Given the description of an element on the screen output the (x, y) to click on. 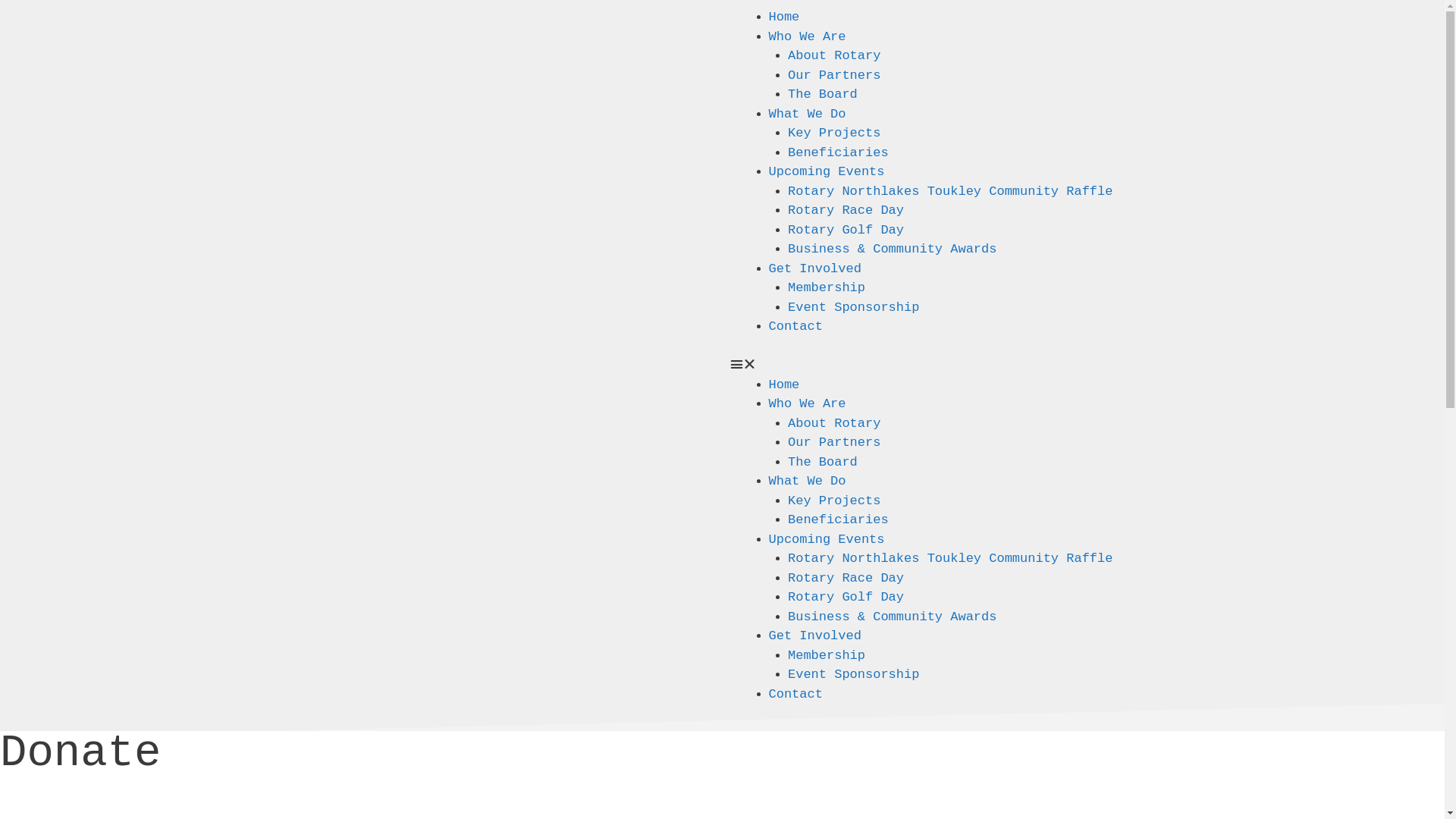
Home Element type: text (784, 384)
Beneficiaries Element type: text (837, 519)
Event Sponsorship Element type: text (853, 674)
Membership Element type: text (826, 654)
Get Involved Element type: text (814, 267)
Rotary Northlakes Toukley Community Raffle Element type: text (949, 190)
What We Do Element type: text (807, 113)
Event Sponsorship Element type: text (853, 307)
Membership Element type: text (826, 287)
About Rotary Element type: text (833, 55)
Who We Are Element type: text (807, 35)
Rotary Golf Day Element type: text (845, 596)
Who We Are Element type: text (807, 403)
Rotary Golf Day Element type: text (845, 229)
About Rotary Element type: text (833, 422)
The Board Element type: text (822, 462)
What We Do Element type: text (807, 480)
Business & Community Awards Element type: text (891, 248)
Key Projects Element type: text (833, 499)
Upcoming Events Element type: text (826, 539)
Our Partners Element type: text (833, 442)
Upcoming Events Element type: text (826, 171)
Contact Element type: text (795, 326)
Key Projects Element type: text (833, 132)
Contact Element type: text (795, 694)
Beneficiaries Element type: text (837, 152)
The Board Element type: text (822, 94)
Our Partners Element type: text (833, 75)
Rotary Race Day Element type: text (845, 210)
Business & Community Awards Element type: text (891, 616)
Home Element type: text (784, 16)
Rotary Northlakes Toukley Community Raffle Element type: text (949, 558)
Rotary Race Day Element type: text (845, 577)
Get Involved Element type: text (814, 635)
